Given the description of an element on the screen output the (x, y) to click on. 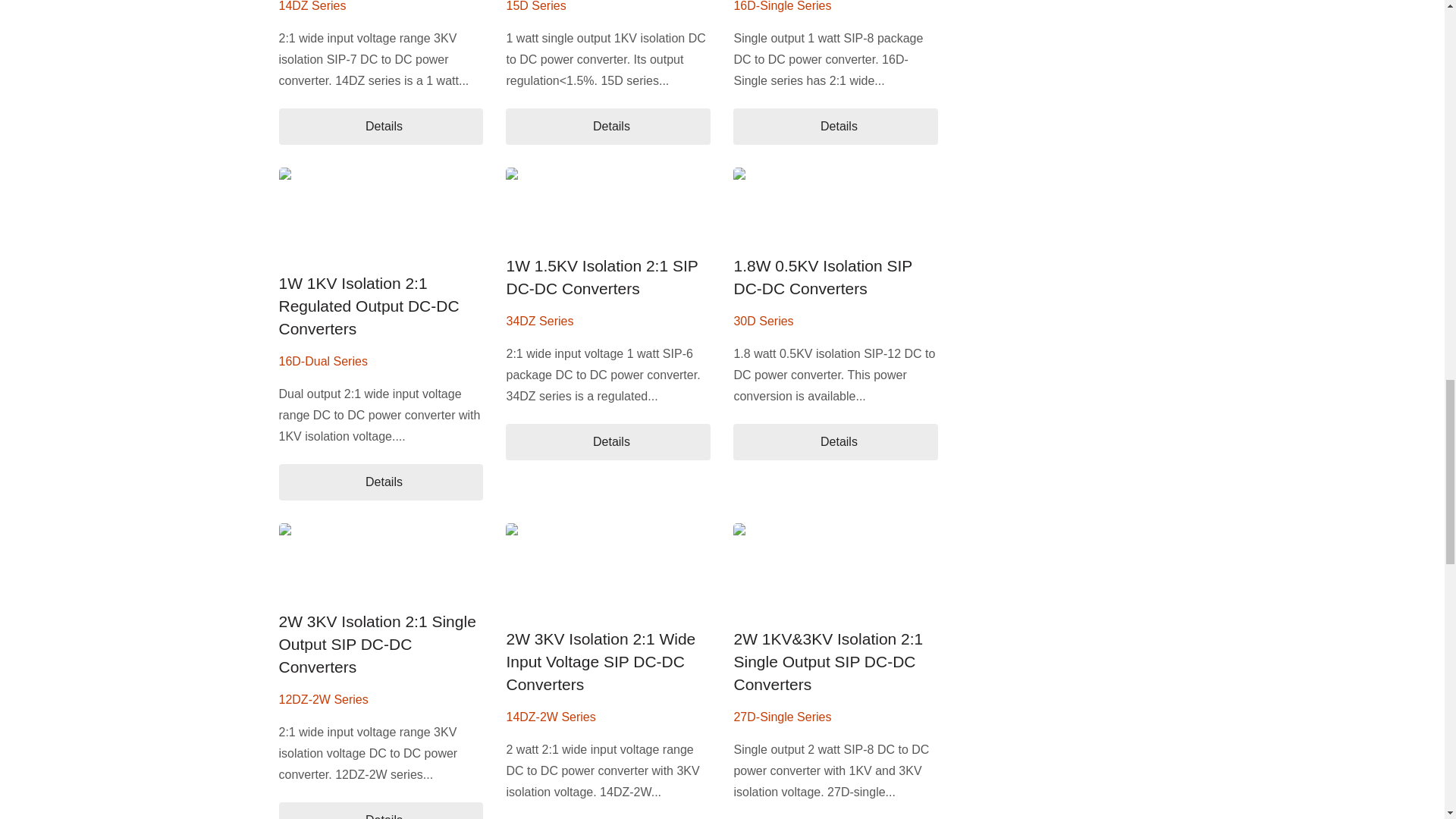
Details (835, 126)
Details (607, 126)
Details (381, 810)
Details (381, 482)
Details (607, 442)
Details (835, 442)
Details (381, 126)
